Given the description of an element on the screen output the (x, y) to click on. 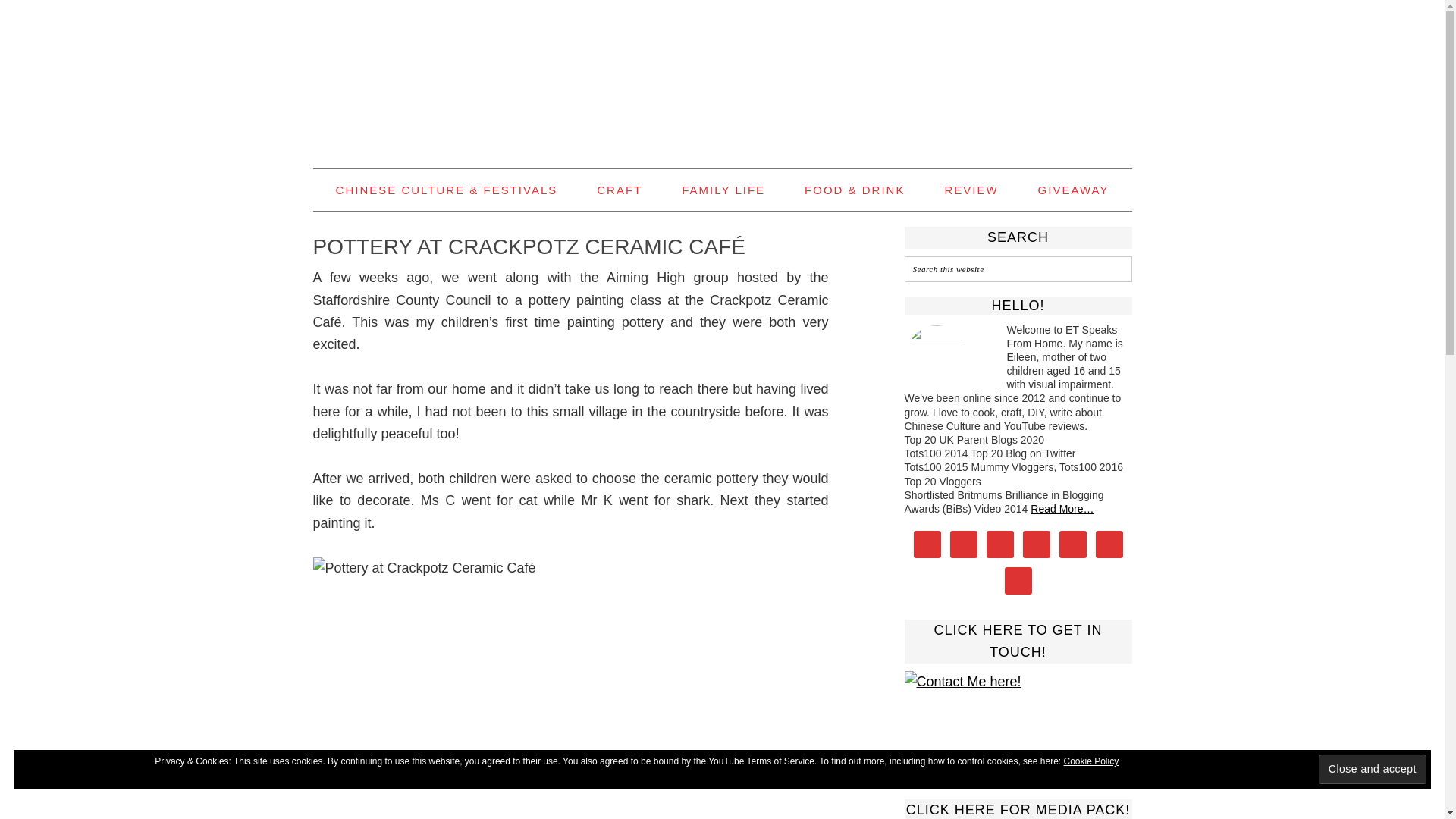
Close and accept (1372, 768)
Click here to get in touch! (1017, 718)
FAMILY LIFE (723, 189)
CRAFT (619, 189)
REVIEW (970, 189)
ET SPEAKS FROM HOME (722, 77)
